Given the description of an element on the screen output the (x, y) to click on. 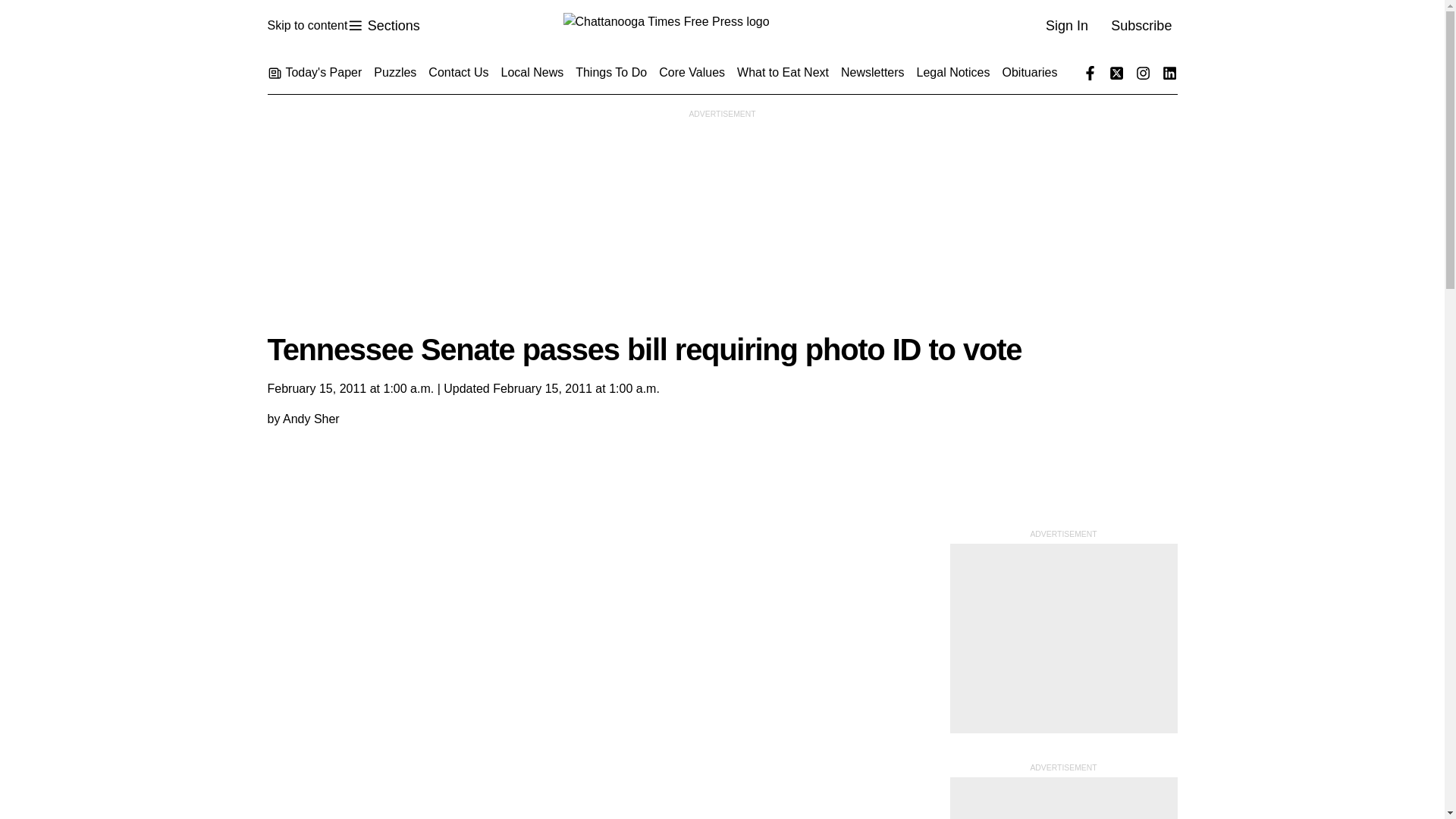
Skip to content (306, 25)
Times Free Press (721, 25)
